Given the description of an element on the screen output the (x, y) to click on. 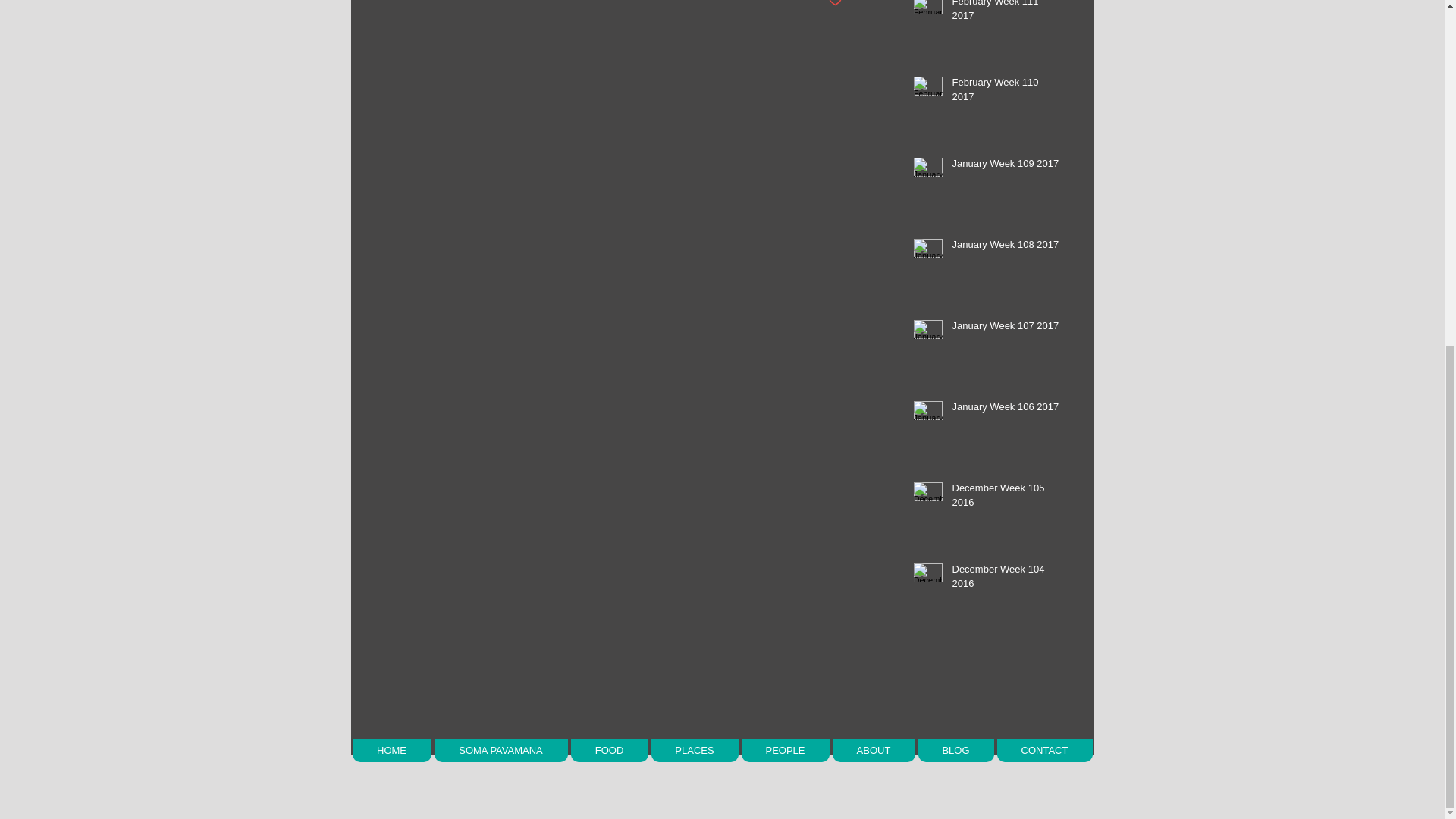
PEOPLE (785, 750)
February Week 110 2017 (1006, 92)
CONTACT (1043, 750)
SOMA PAVAMANA (500, 750)
FOOD (608, 750)
December Week 105 2016 (1006, 498)
February Week 111 2017 (1006, 13)
January Week 109 2017 (1006, 166)
ABOUT (873, 750)
HOME (391, 750)
Post not marked as liked (835, 4)
December Week 104 2016 (1006, 579)
January Week 108 2017 (1006, 247)
January Week 106 2017 (1006, 410)
January Week 107 2017 (1006, 329)
